Given the description of an element on the screen output the (x, y) to click on. 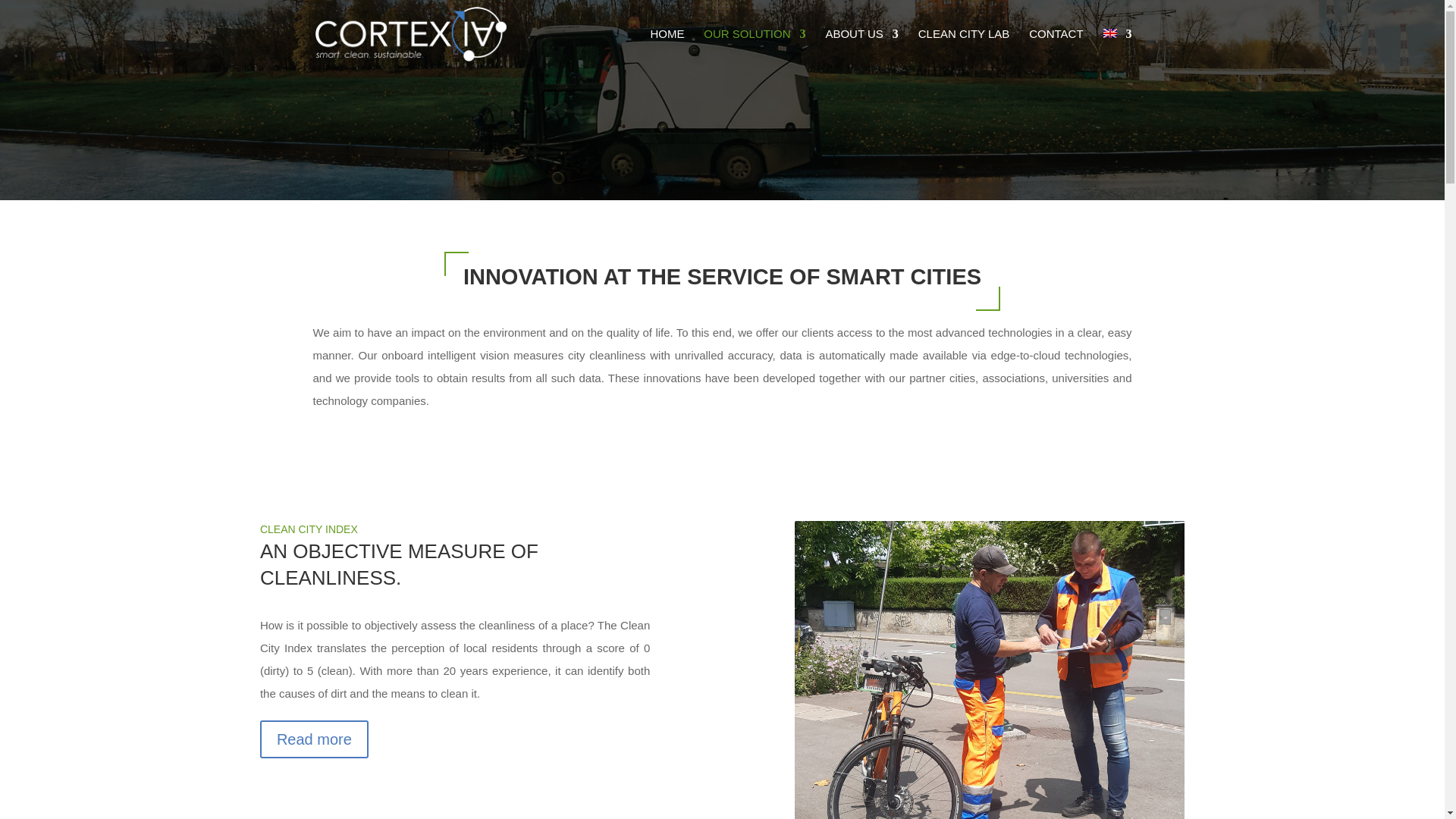
Read more (314, 739)
ABOUT US (861, 47)
CLEAN CITY LAB (964, 47)
OUR SOLUTION (754, 47)
Cortexia-bike (989, 669)
CONTACT (1056, 47)
